Given the description of an element on the screen output the (x, y) to click on. 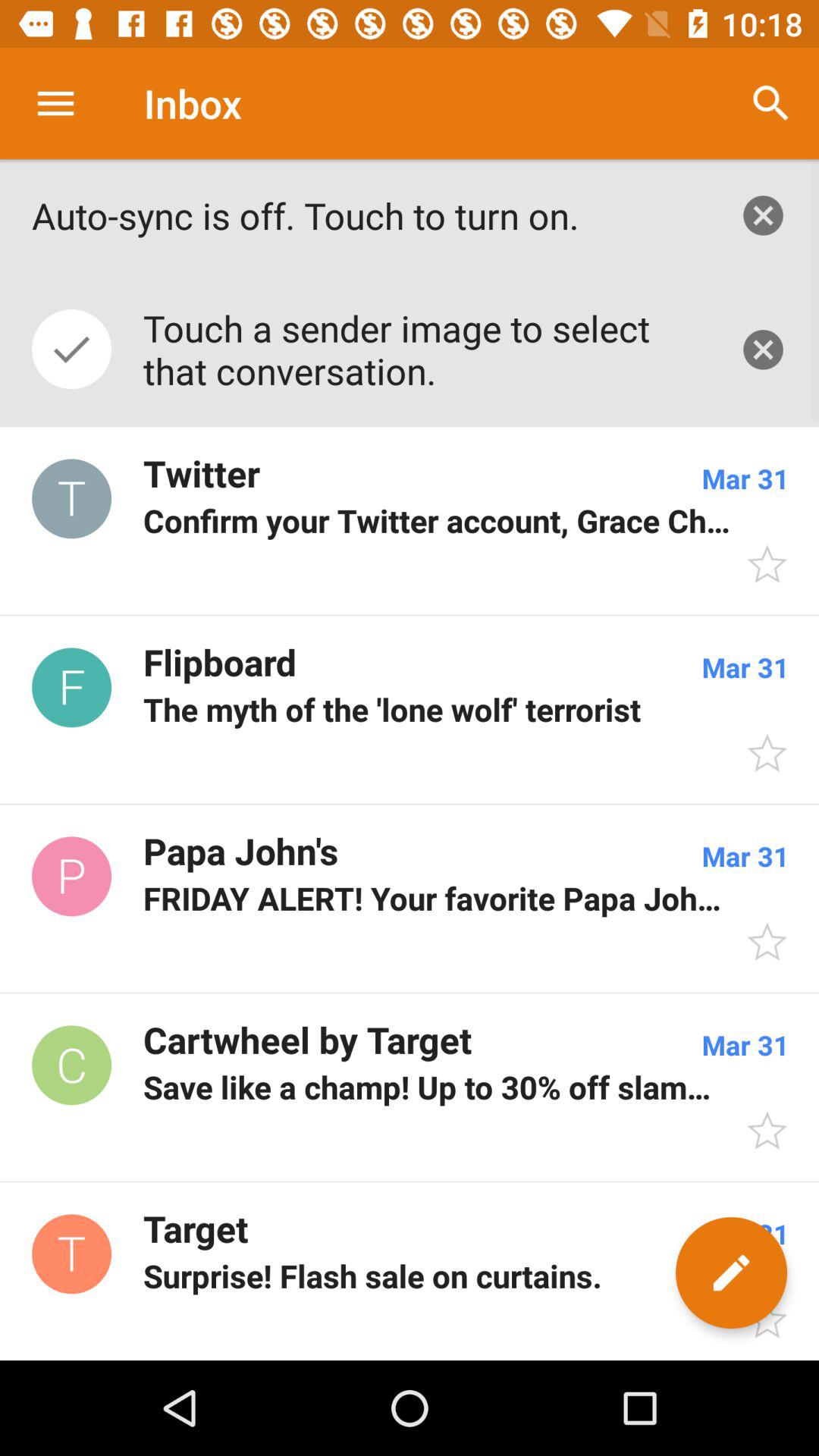
turn on icon above the auto sync is (55, 103)
